Given the description of an element on the screen output the (x, y) to click on. 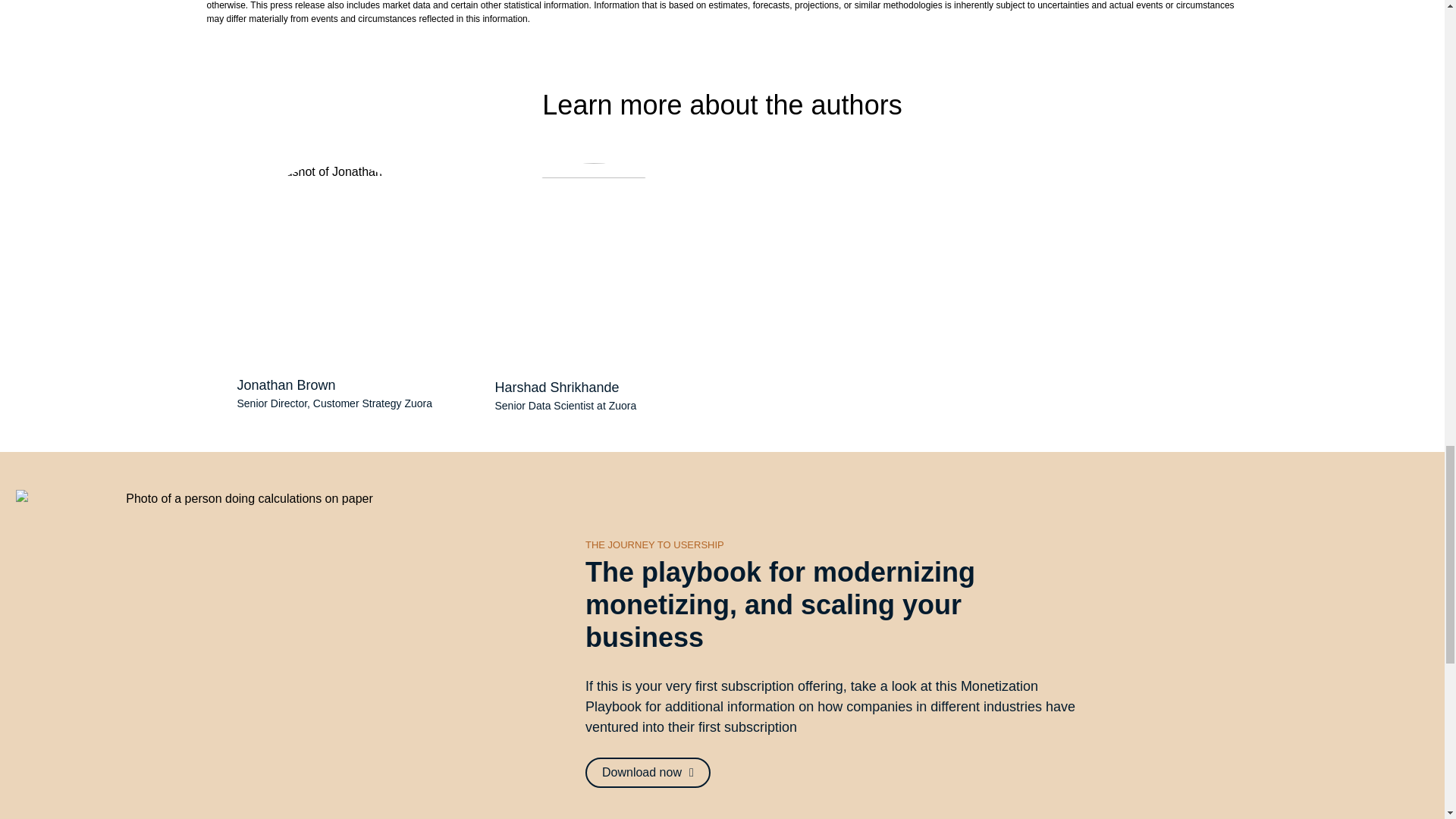
Download now (647, 772)
